Given the description of an element on the screen output the (x, y) to click on. 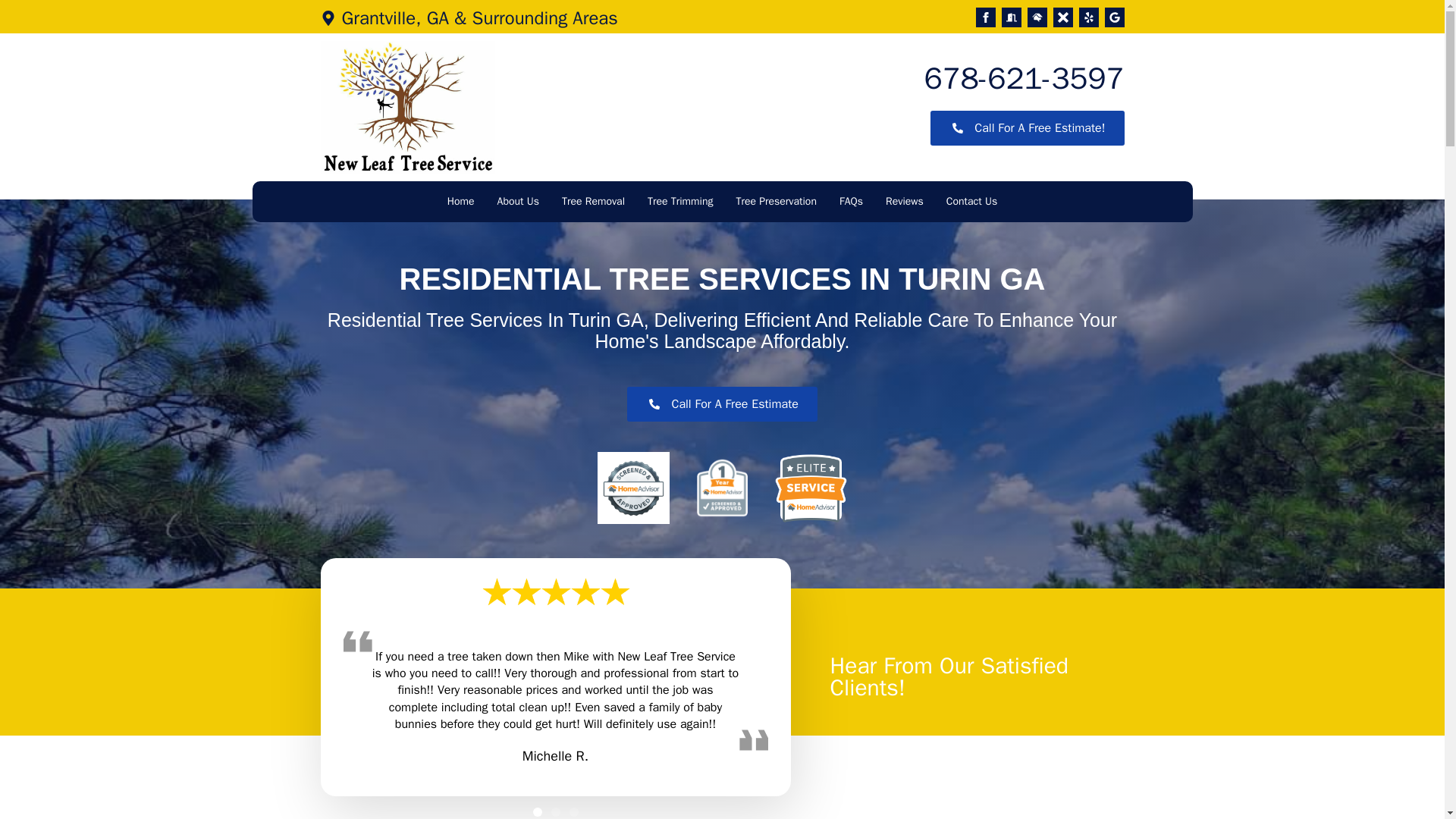
Tree Removal (592, 201)
Call For A Free Estimate! (1027, 127)
Call For A Free Estimate (721, 403)
Home (460, 201)
Tree Preservation (776, 201)
FAQs (850, 201)
Contact Us (971, 201)
678-621-3597 (1024, 78)
About Us (518, 201)
Tree Trimming (680, 201)
Reviews (904, 201)
